Given the description of an element on the screen output the (x, y) to click on. 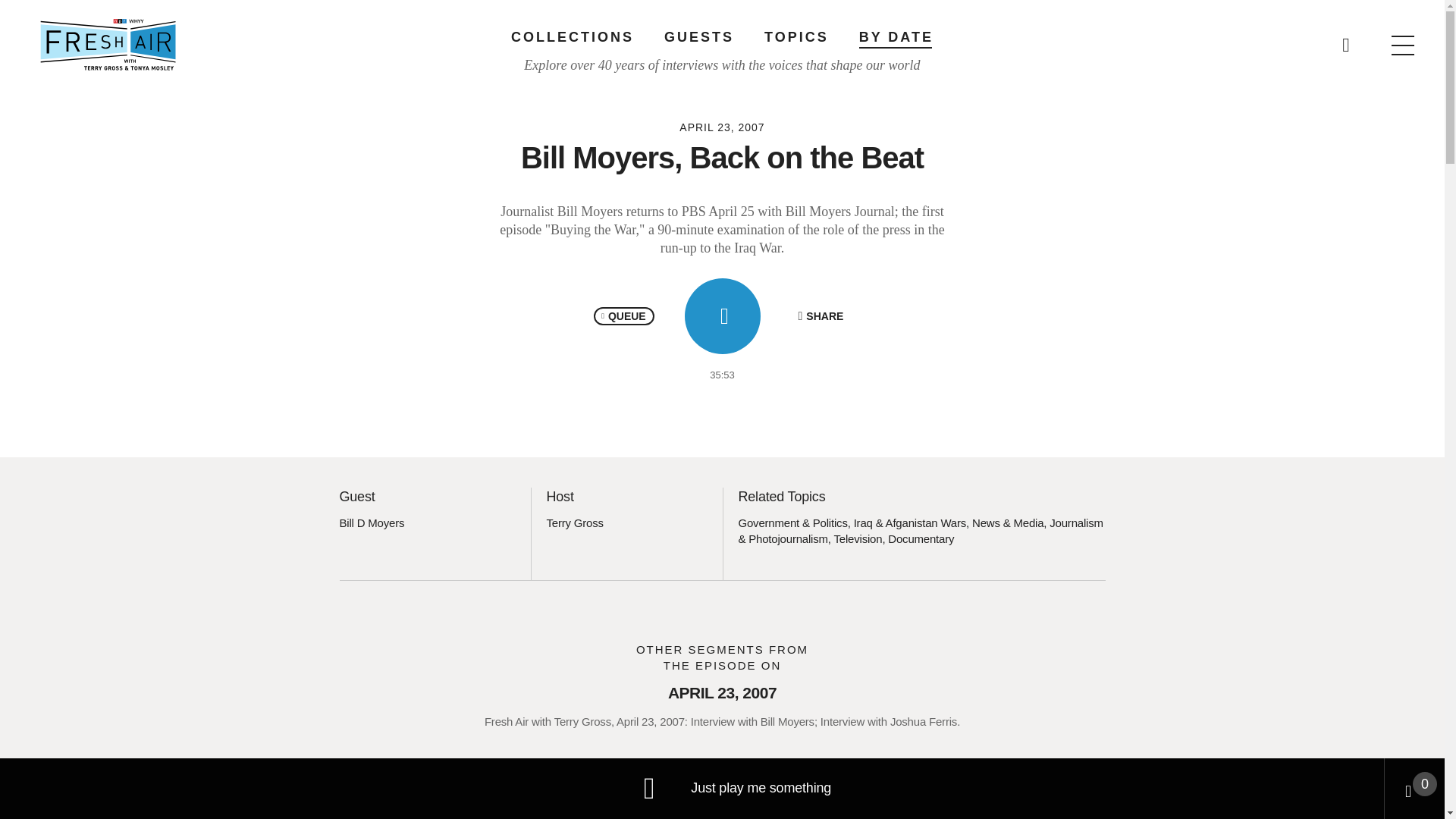
Bill D Moyers (371, 522)
GUESTS (698, 36)
Search (964, 37)
BY DATE (896, 36)
Home (108, 44)
QUEUE (622, 316)
COLLECTIONS (572, 36)
SHARE (820, 316)
TOPICS (796, 36)
Terry Gross (574, 522)
